Given the description of an element on the screen output the (x, y) to click on. 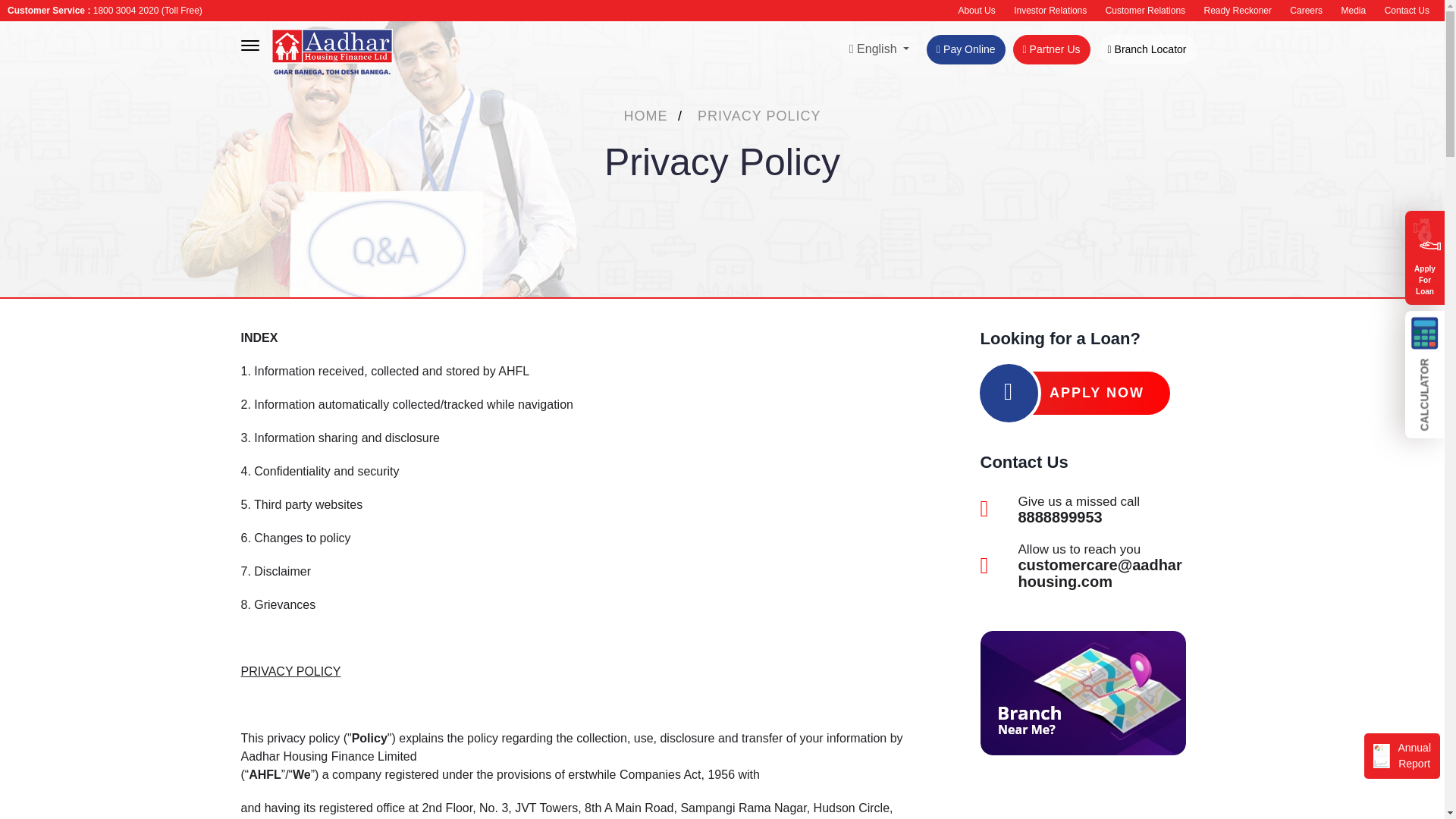
Investor Relations (1049, 10)
About Us (976, 10)
Customer Relations (1145, 10)
Ready Reckoner (1237, 10)
